Given the description of an element on the screen output the (x, y) to click on. 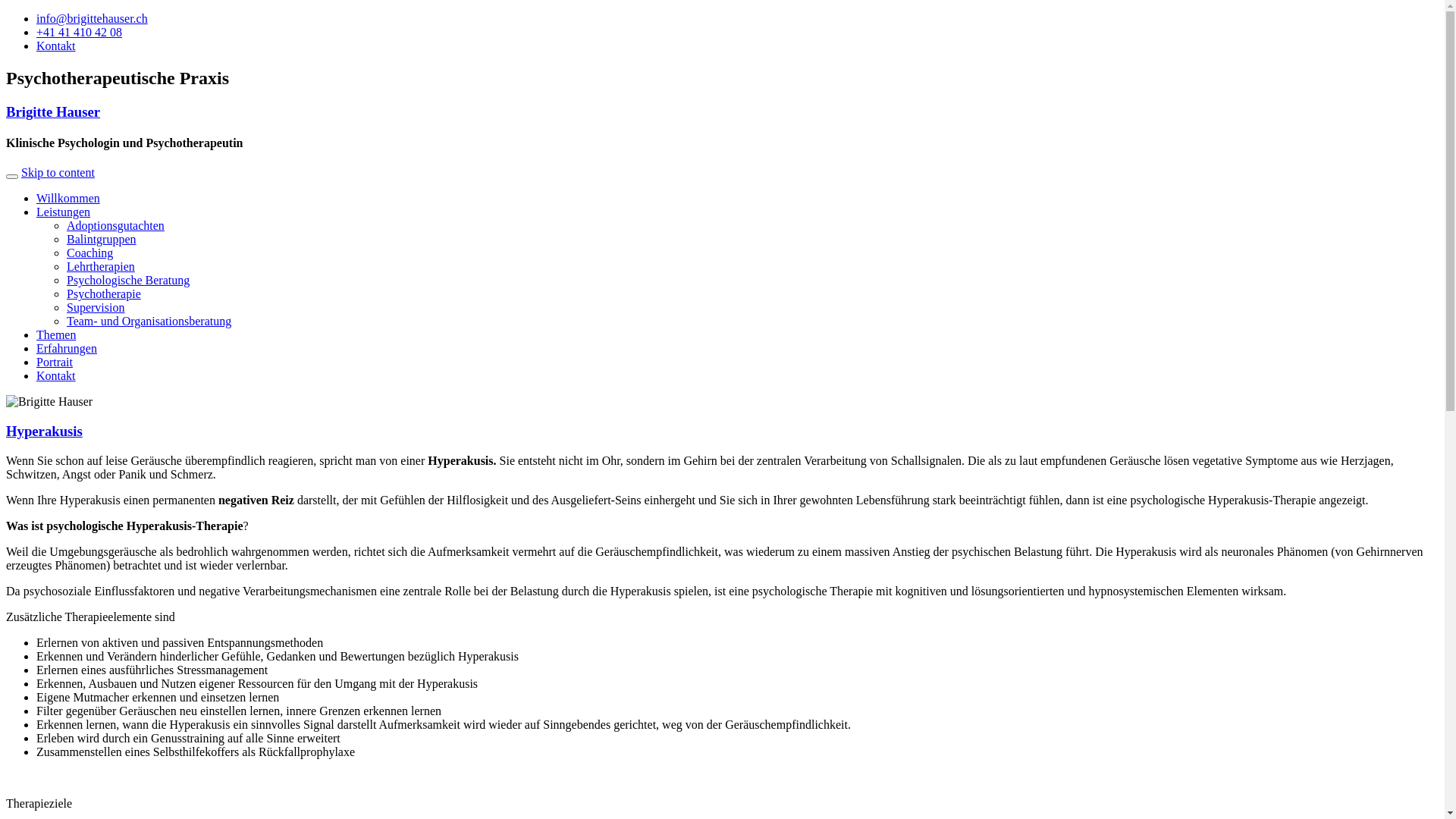
Psychotherapie Element type: text (103, 293)
info@brigittehauser.ch Element type: text (91, 18)
Portrait Element type: text (54, 361)
+41 41 410 42 08 Element type: text (79, 31)
Kontakt Element type: text (55, 375)
Leistungen Element type: text (63, 211)
Adoptionsgutachten Element type: text (115, 225)
Kontakt Element type: text (55, 45)
Willkommen Element type: text (68, 197)
Brigitte Hauser Element type: text (53, 111)
Coaching Element type: text (89, 252)
Supervision Element type: text (95, 307)
Skip to content Element type: text (57, 172)
Lehrtherapien Element type: text (100, 266)
Balintgruppen Element type: text (101, 238)
Team- und Organisationsberatung Element type: text (148, 320)
Psychologische Beratung Element type: text (127, 279)
Themen Element type: text (55, 334)
Hyperakusis Element type: text (44, 431)
Erfahrungen Element type: text (66, 348)
